Given the description of an element on the screen output the (x, y) to click on. 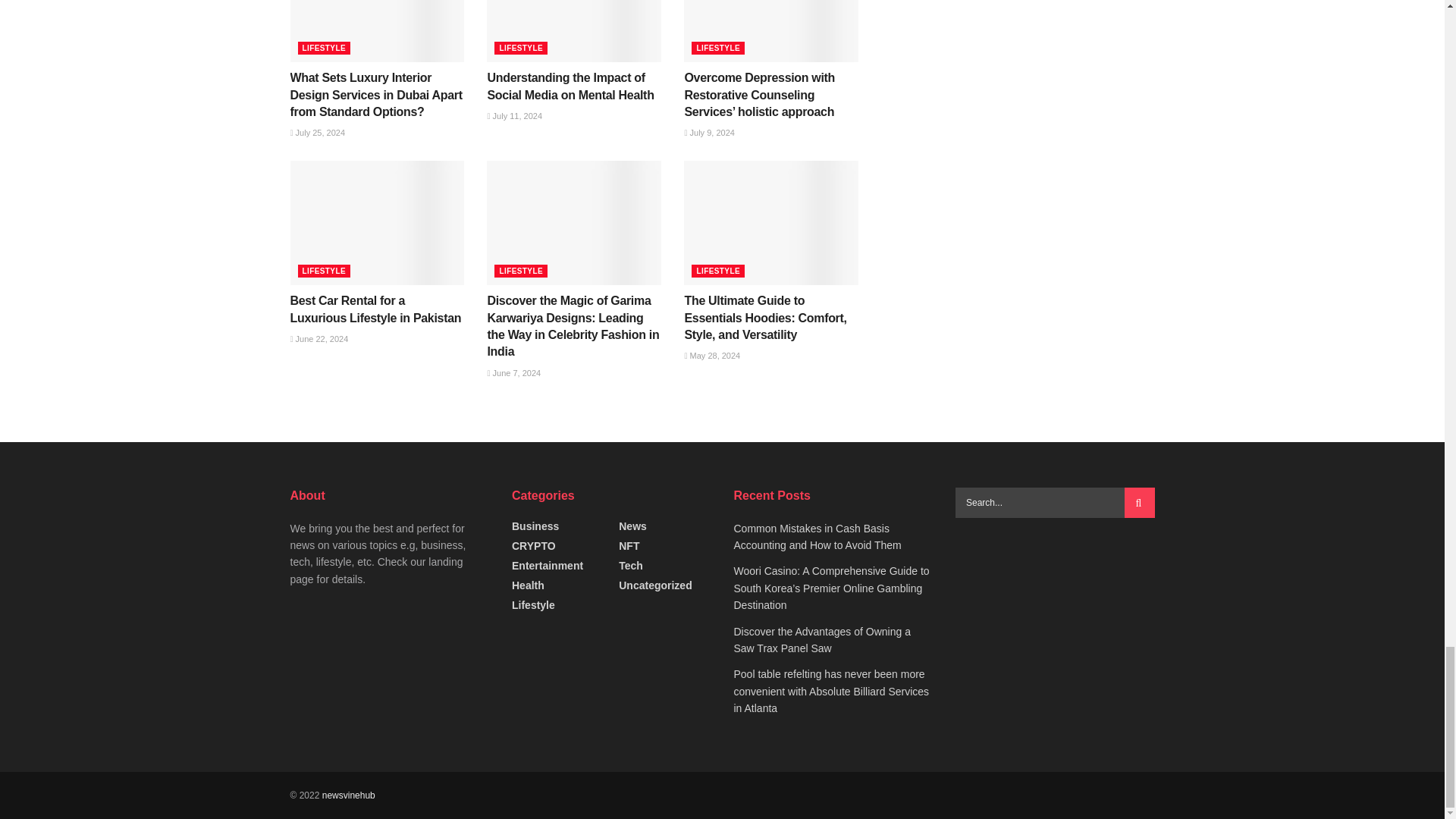
newsvinehub (348, 795)
